Given the description of an element on the screen output the (x, y) to click on. 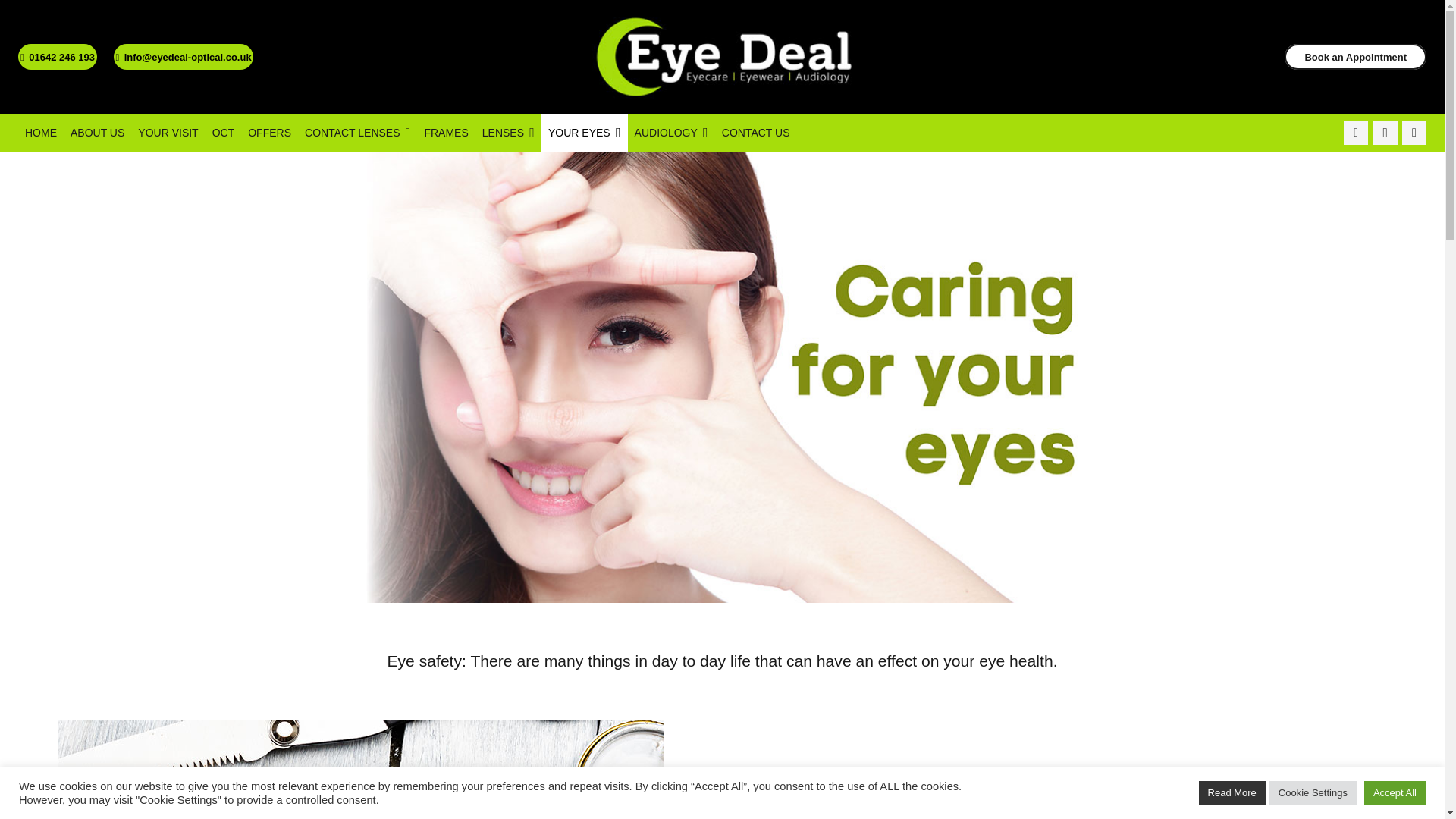
LENSES (508, 132)
OCT (223, 132)
YOUR VISIT (168, 132)
ABOUT US (97, 132)
Book an Appointment (1355, 56)
Instagram (1385, 132)
Email (1414, 132)
CONTACT US (755, 132)
FRAMES (445, 132)
YOUR EYES (584, 132)
